Given the description of an element on the screen output the (x, y) to click on. 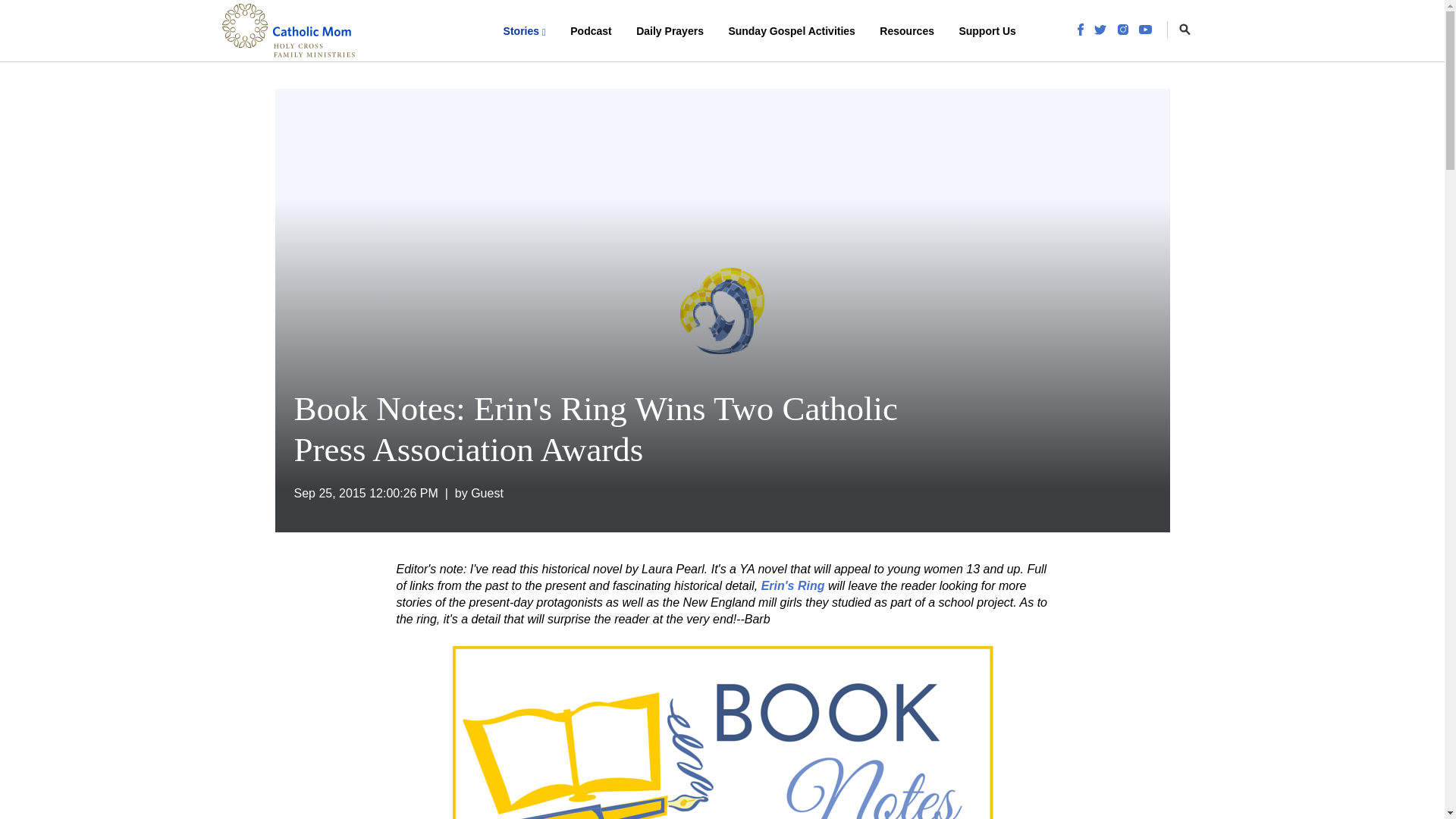
Sunday Gospel Activities (791, 30)
Daily Prayers (670, 30)
Support Us (986, 30)
Podcast (590, 30)
Stories (524, 30)
Guest (486, 492)
catholic-mom-logo-v2 (288, 30)
Erin's Ring (793, 585)
Resources (906, 30)
